Given the description of an element on the screen output the (x, y) to click on. 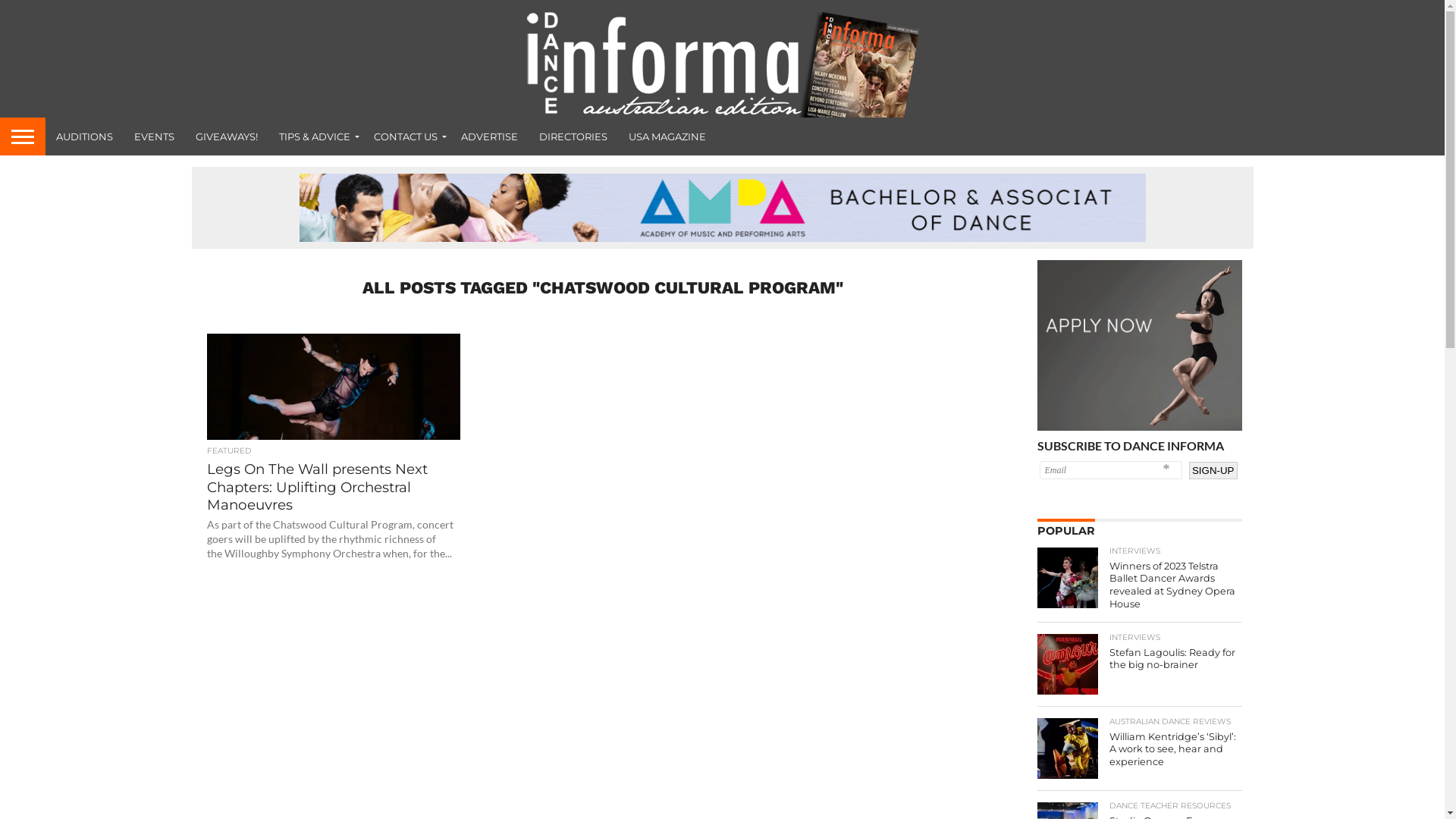
GIVEAWAYS! Element type: text (226, 136)
USA MAGAZINE Element type: text (667, 136)
TIPS & ADVICE Element type: text (315, 136)
EVENTS Element type: text (154, 136)
AUDITIONS Element type: text (84, 136)
DIRECTORIES Element type: text (573, 136)
SIGN-UP Element type: text (1213, 469)
CONTACT US Element type: text (406, 136)
ADVERTISE Element type: text (489, 136)
